Given the description of an element on the screen output the (x, y) to click on. 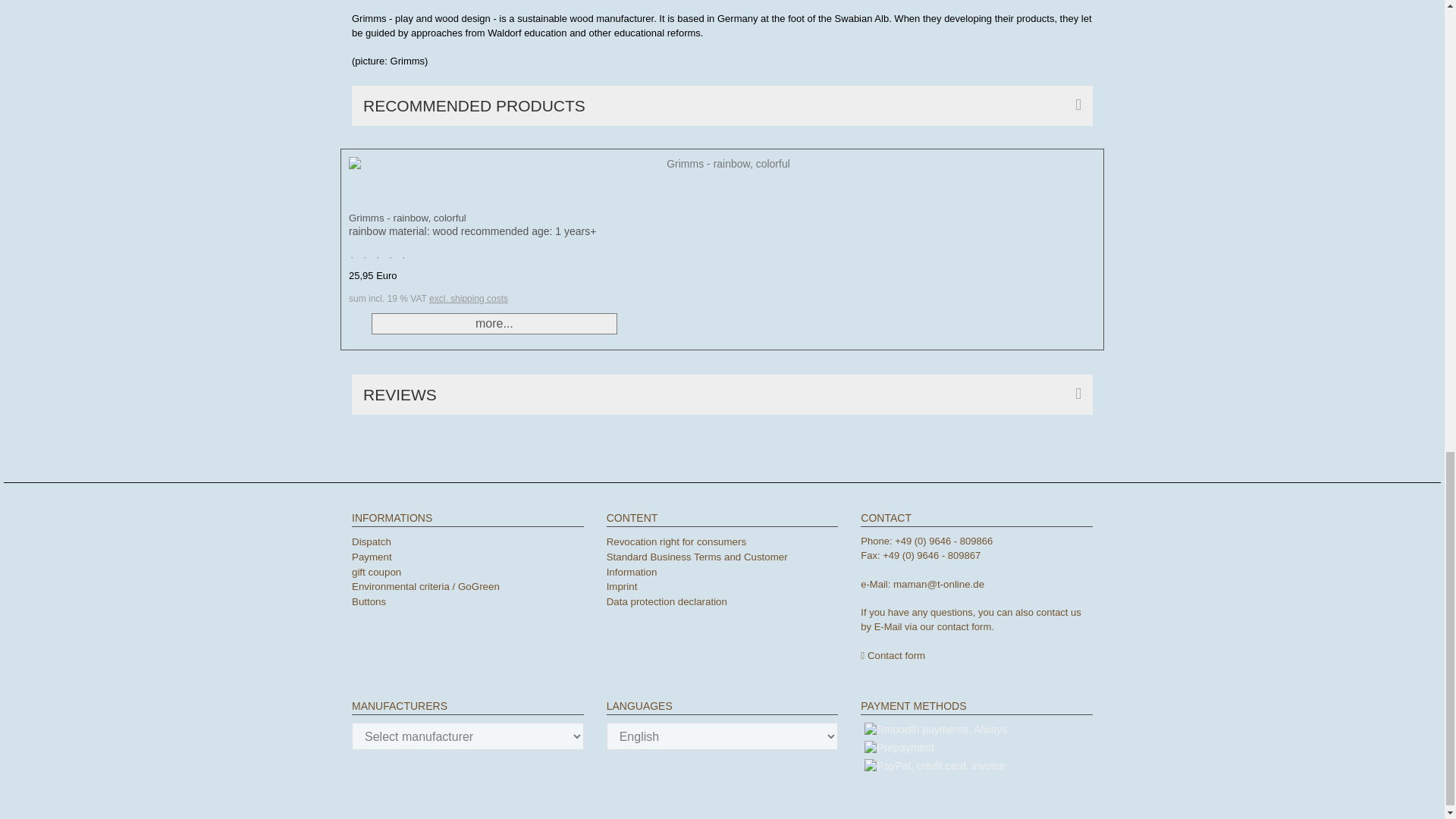
Data protection declaration (666, 601)
more... (494, 323)
Smoooth payments. Always. (937, 729)
Buttons (368, 601)
Imprint (622, 586)
excl. shipping costs (468, 298)
Payment (371, 556)
Prepayment (898, 748)
gift coupon (376, 572)
Revocation right for consumers (676, 541)
